Given the description of an element on the screen output the (x, y) to click on. 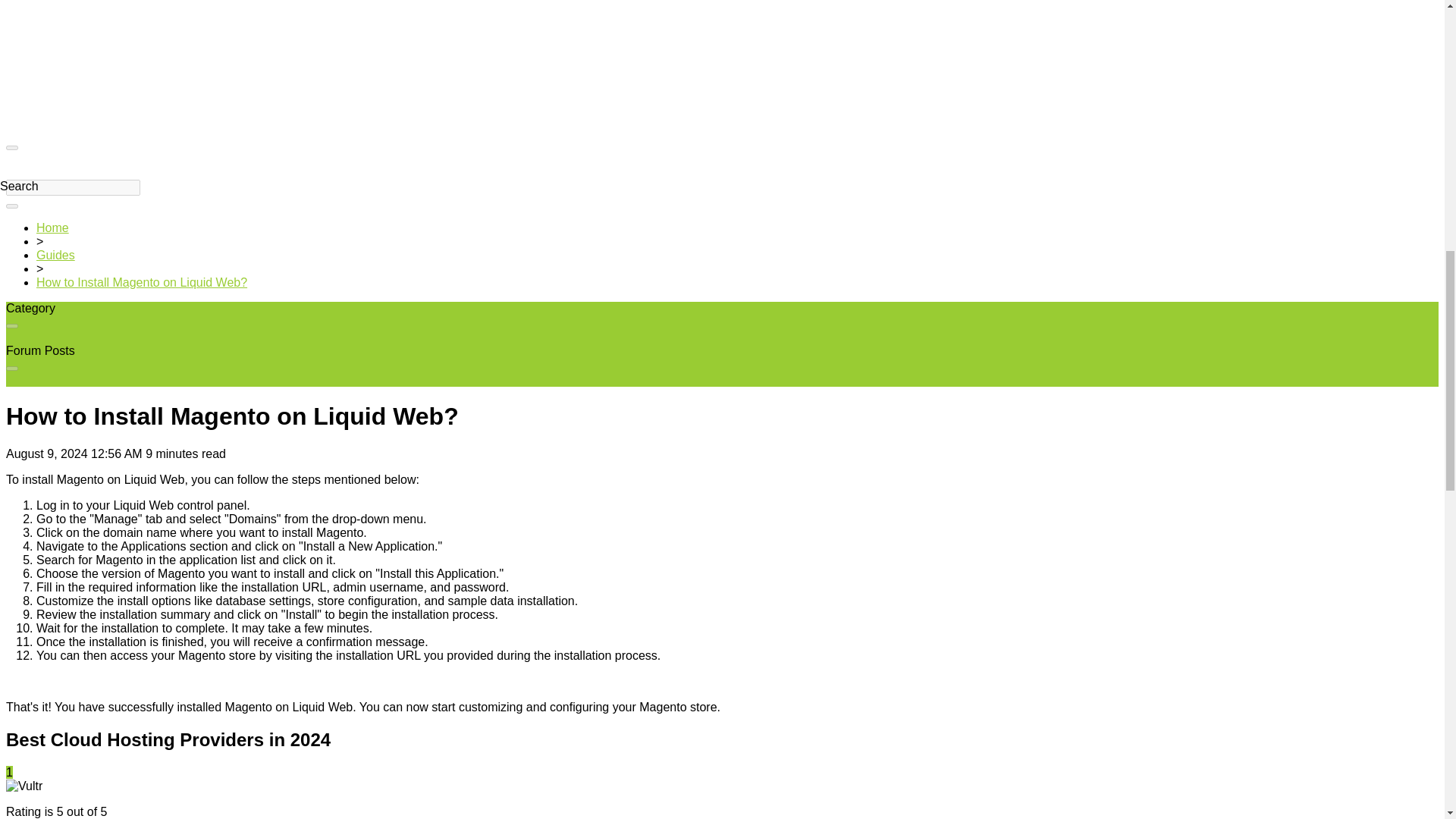
Guides (55, 254)
Home (52, 227)
How to Install Magento on Liquid Web? (141, 282)
